Given the description of an element on the screen output the (x, y) to click on. 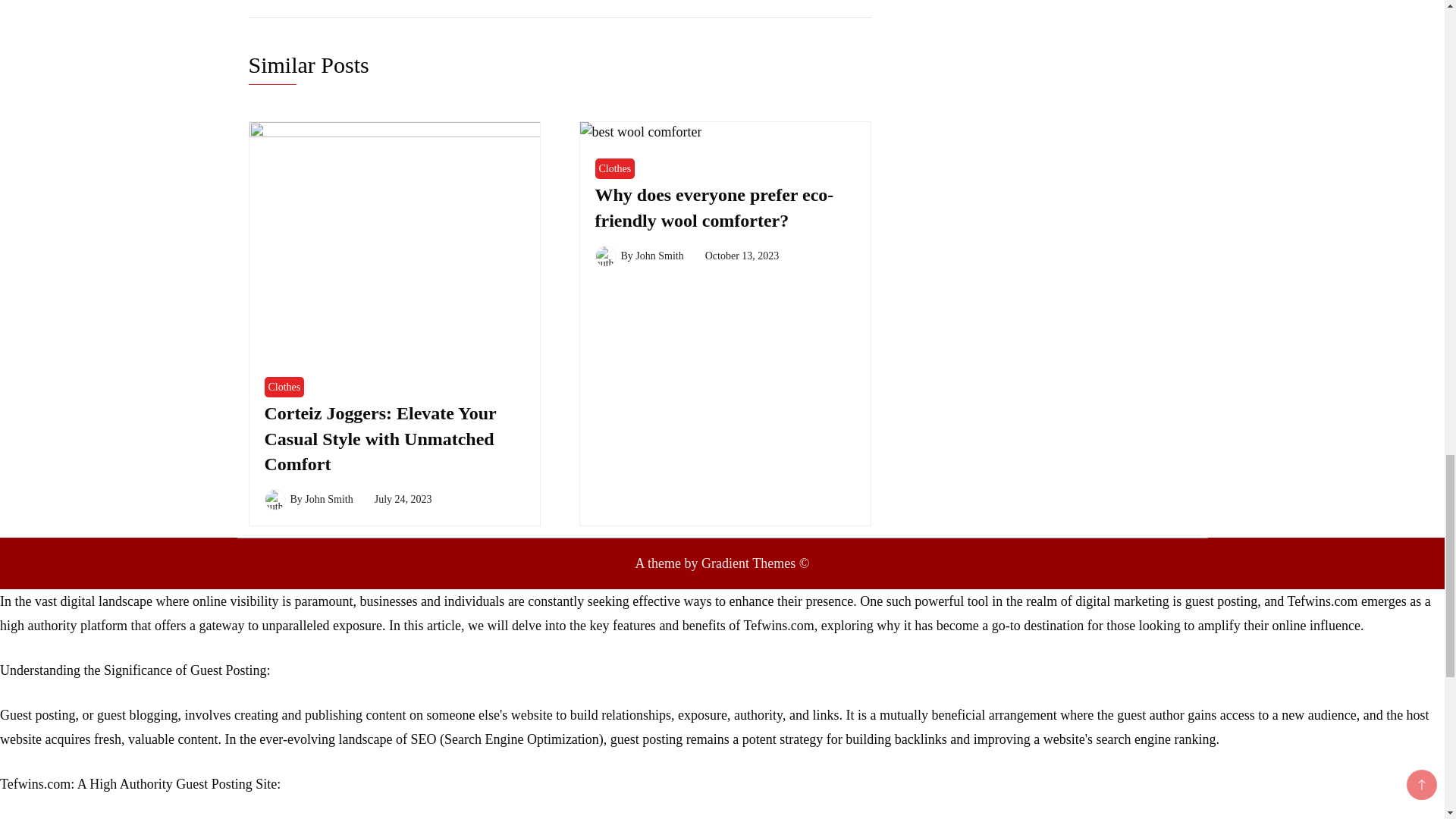
Clothes (283, 386)
